Given the description of an element on the screen output the (x, y) to click on. 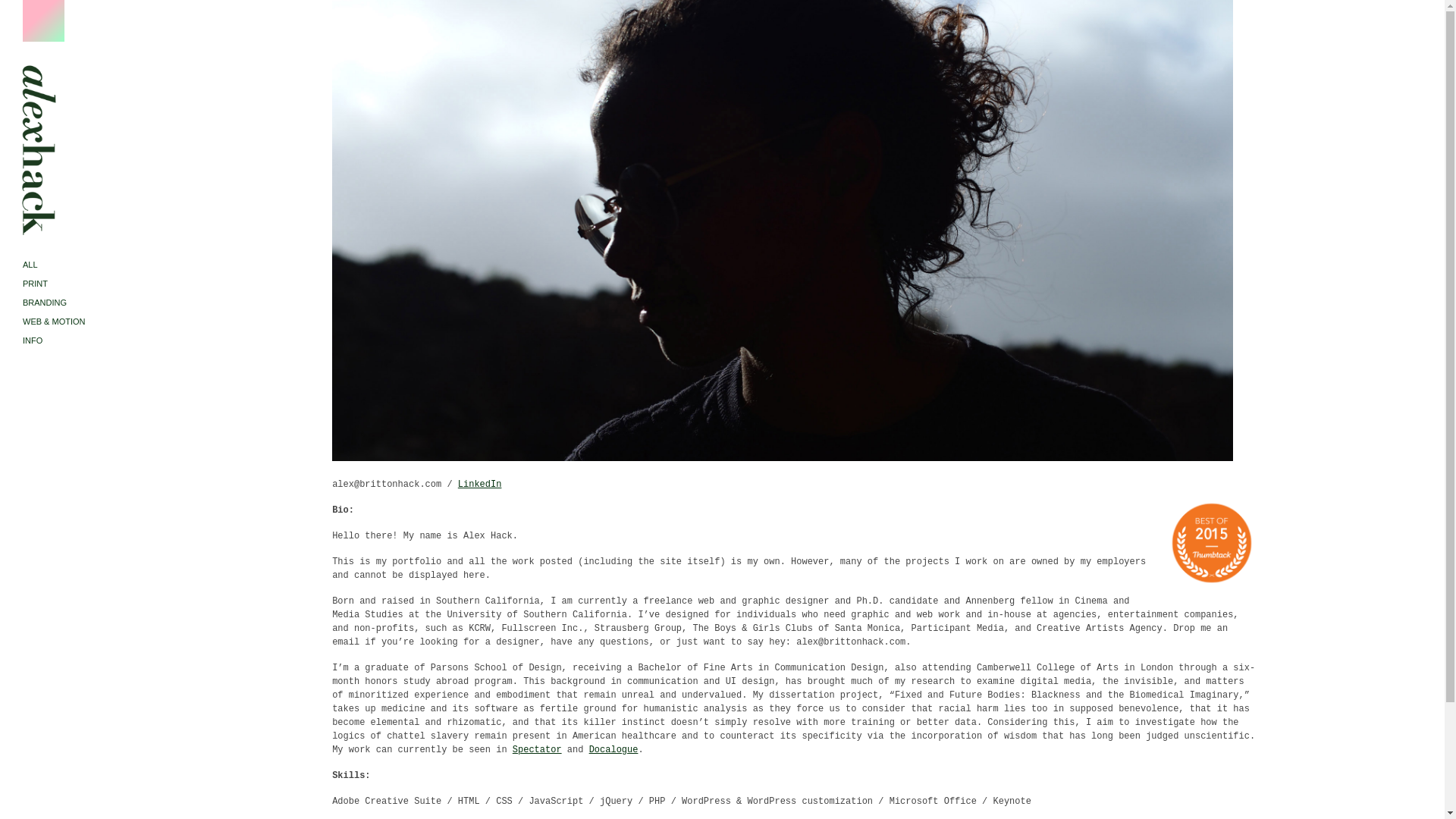
INFO (61, 340)
LinkedIn (480, 484)
PRINT (61, 283)
Docalogue (614, 749)
ALL (61, 264)
Alex Hack (34, 232)
BRANDING (61, 302)
Spectator (537, 749)
